Given the description of an element on the screen output the (x, y) to click on. 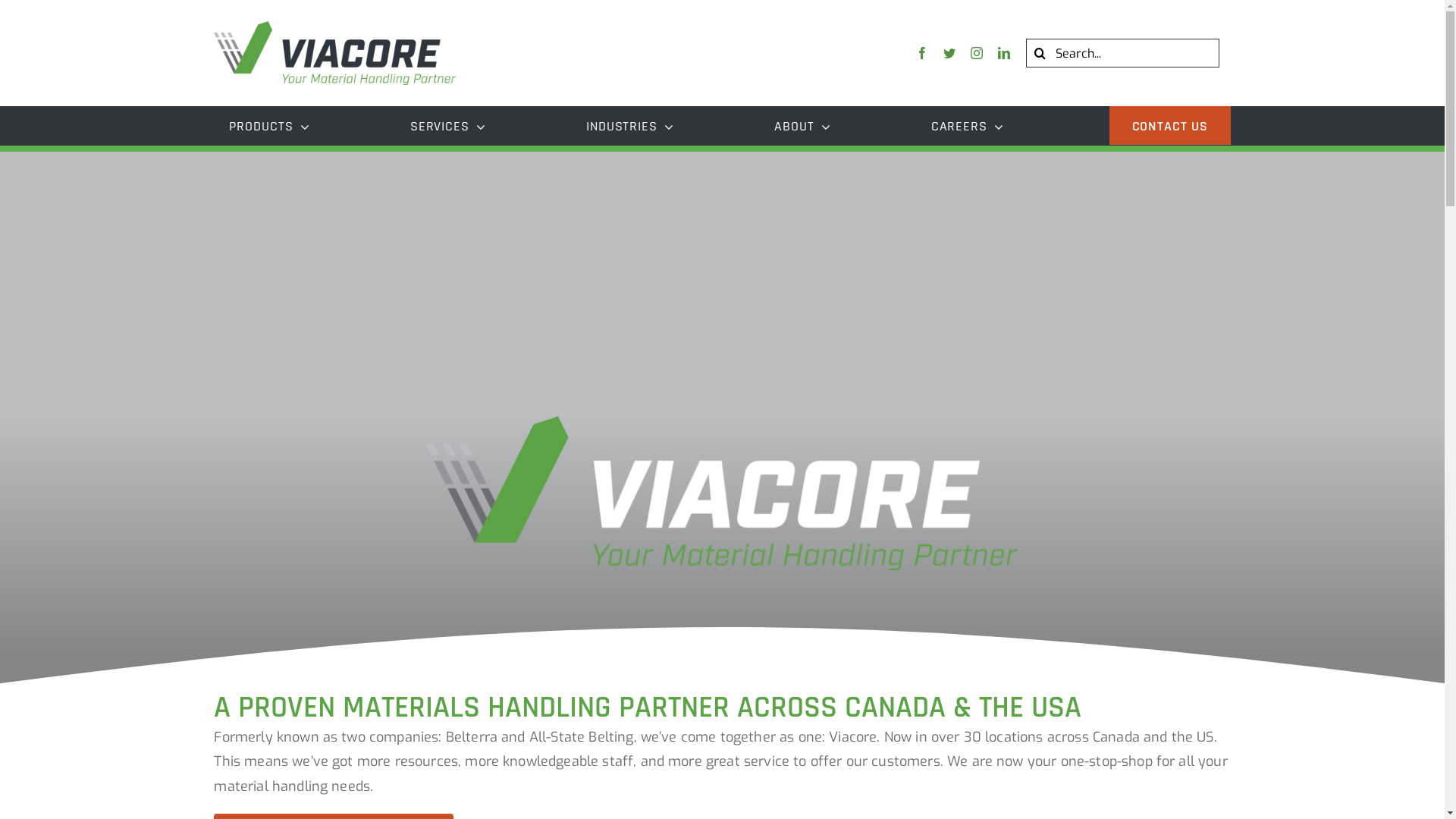
INDUSTRIES Element type: text (630, 125)
LinkedIn Element type: hover (1003, 53)
SERVICES Element type: text (448, 125)
CONTACT US Element type: text (1169, 125)
CAREERS Element type: text (967, 125)
Instagram Element type: hover (976, 53)
PRODUCTS Element type: text (268, 125)
ABOUT Element type: text (802, 125)
logo-home-reverse Element type: hover (722, 493)
Twitter Element type: hover (949, 53)
Facebook Element type: hover (922, 53)
